Given the description of an element on the screen output the (x, y) to click on. 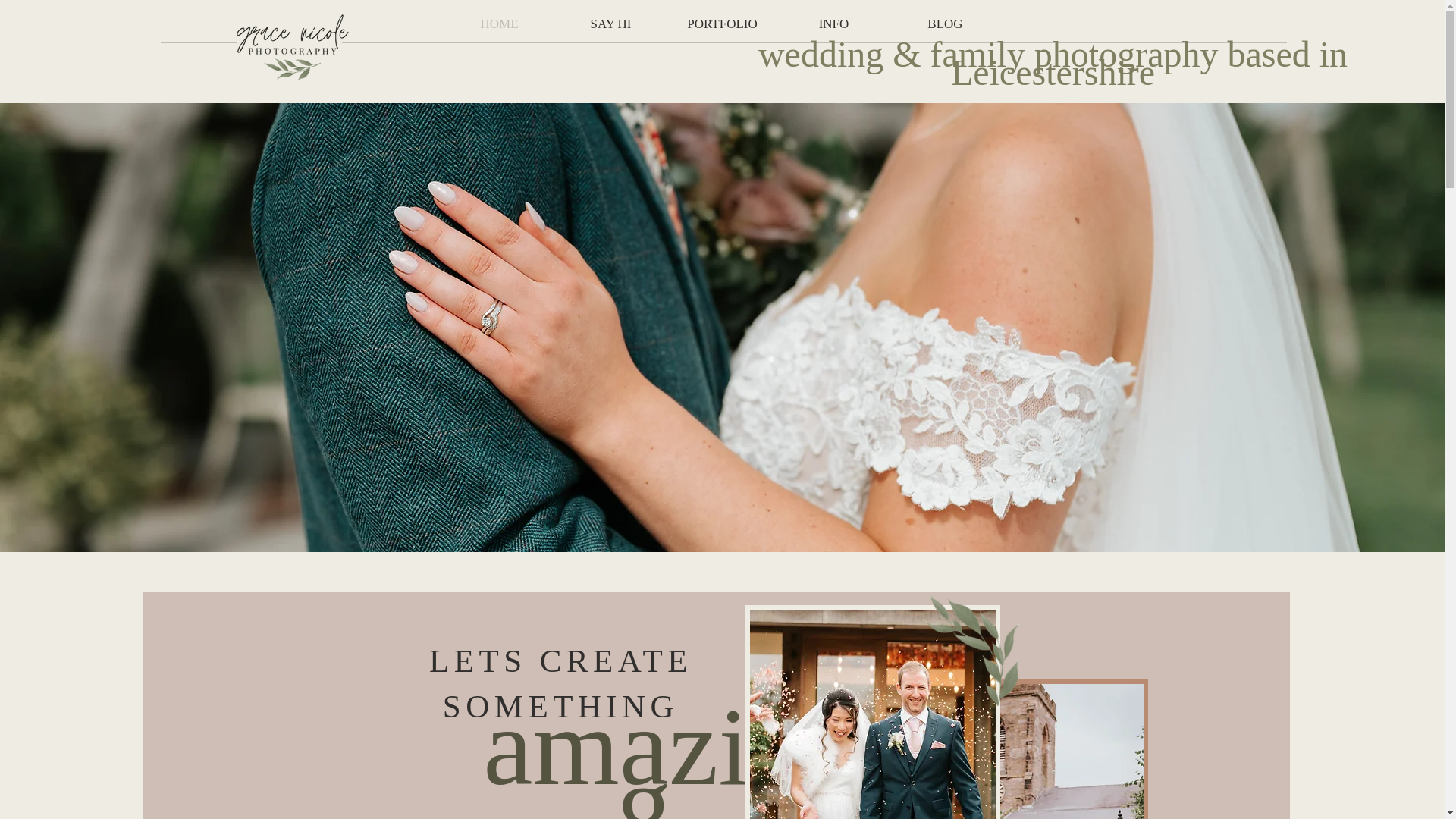
BLOG (945, 24)
SAY HI (610, 24)
amazing (644, 751)
HOME (499, 24)
